Given the description of an element on the screen output the (x, y) to click on. 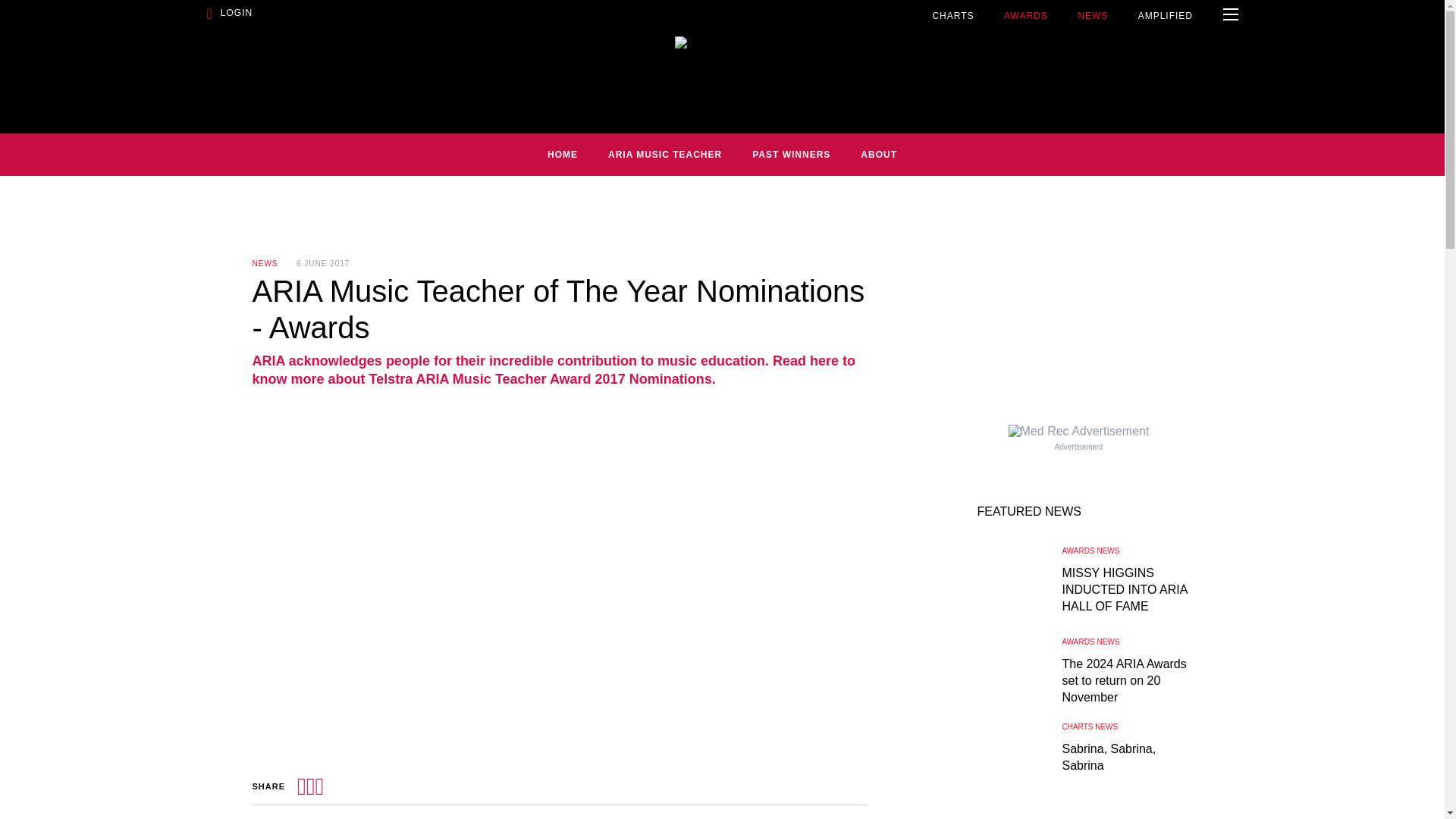
AWARDS (1026, 14)
NEWS (1092, 14)
LOGIN (450, 15)
AMPLIFIED (1165, 14)
CHARTS (952, 14)
HOME (562, 154)
